Given the description of an element on the screen output the (x, y) to click on. 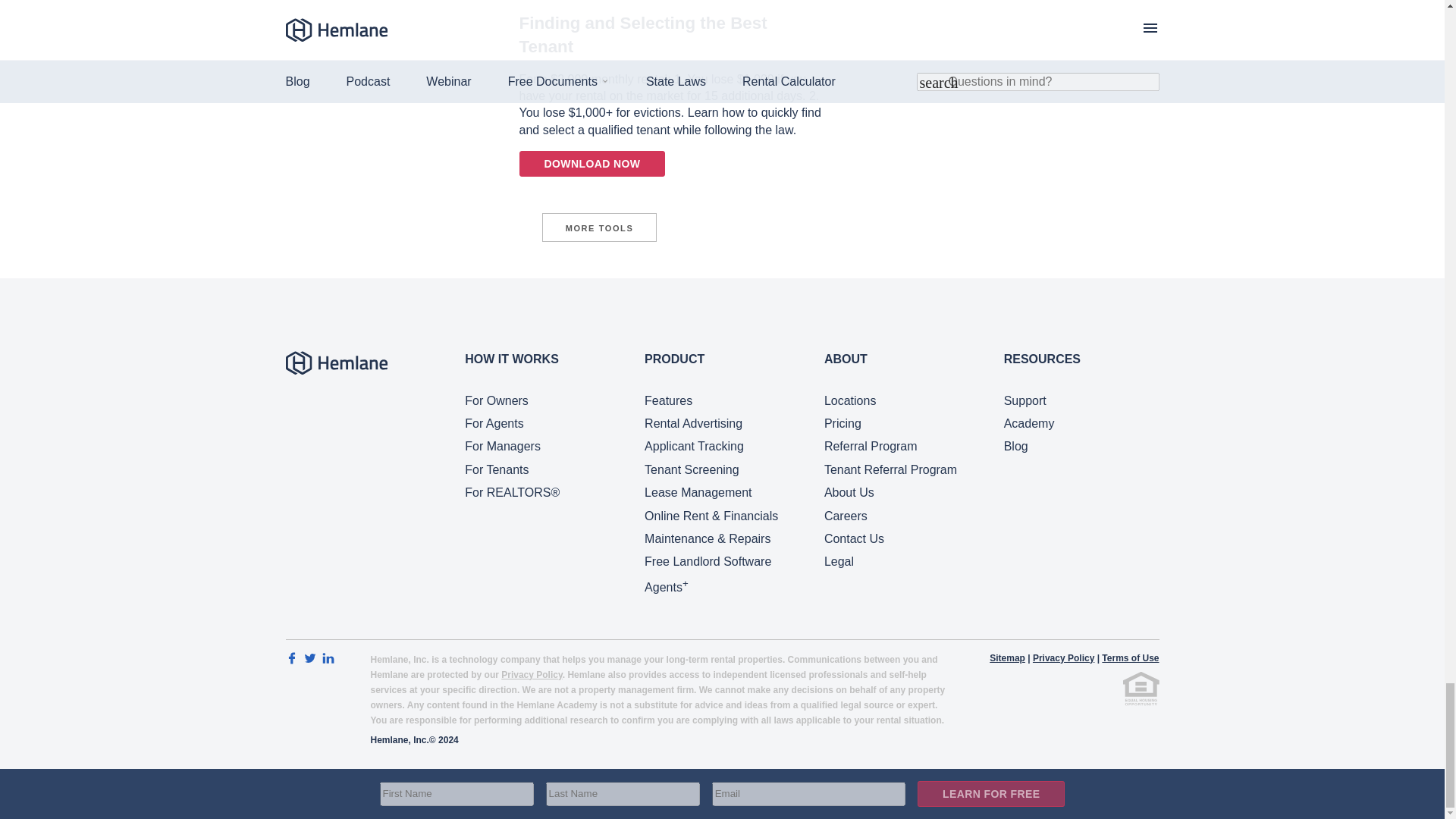
For Agents (493, 422)
For Managers (502, 445)
DOWNLOAD NOW (591, 163)
Rental Advertising (693, 422)
For Tenants (496, 469)
Features (669, 400)
For Owners (496, 400)
Applicant Tracking (694, 445)
MORE TOOLS (599, 226)
